Given the description of an element on the screen output the (x, y) to click on. 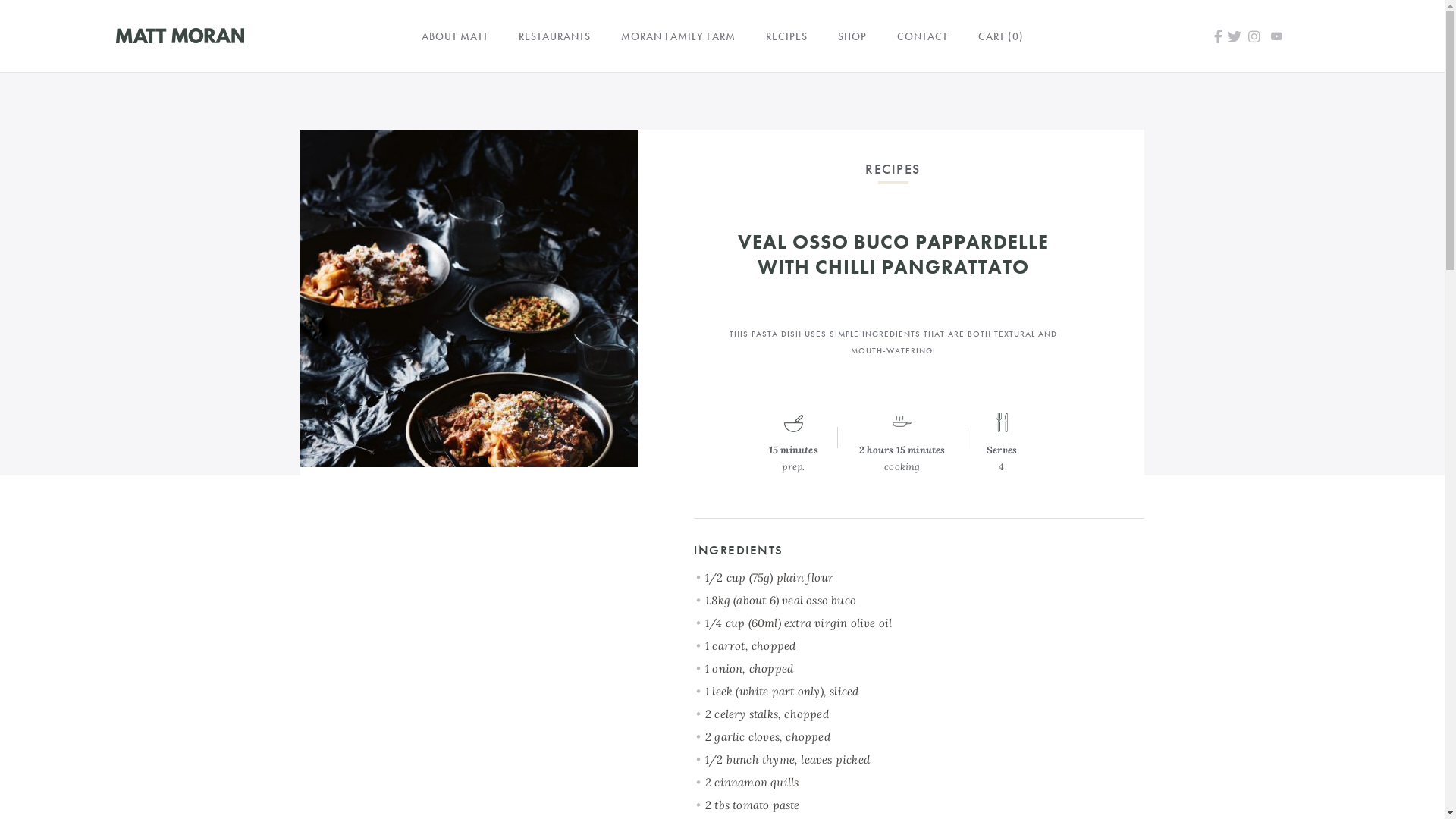
ABOUT MATT Element type: text (454, 36)
CART (0) Element type: text (1000, 36)
RESTAURANTS Element type: text (554, 36)
MORAN FAMILY FARM Element type: text (677, 36)
RECIPES Element type: text (786, 36)
SHOP Element type: text (851, 36)
CONTACT Element type: text (921, 36)
